Given the description of an element on the screen output the (x, y) to click on. 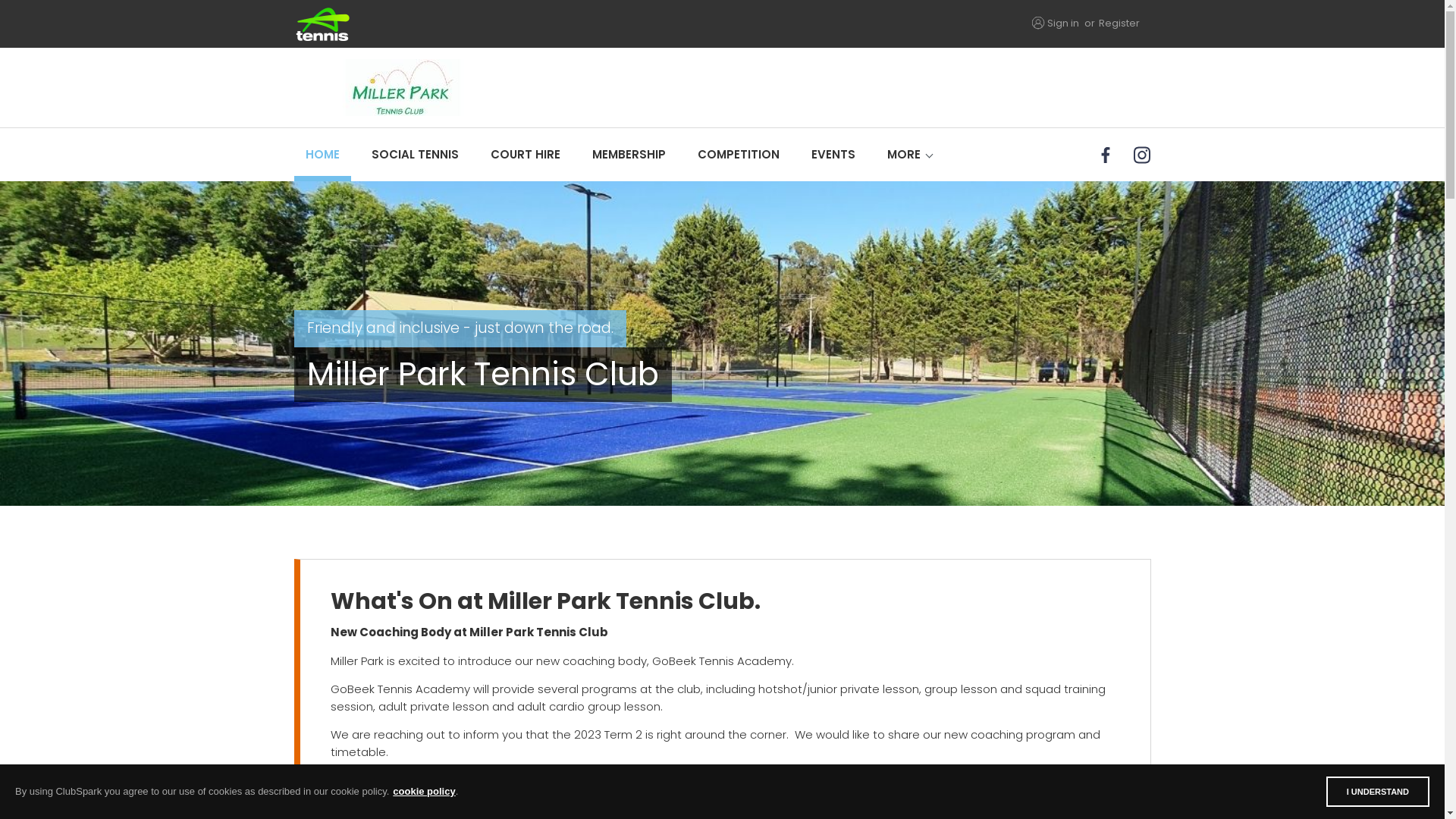
MORE Element type: text (903, 154)
cookie policy Element type: text (423, 791)
MEMBERSHIP Element type: text (628, 154)
HOME Element type: text (322, 154)
COURT HIRE Element type: text (525, 154)
Facebook Element type: text (1106, 154)
Register Element type: text (1118, 22)
EVENTS Element type: text (832, 154)
COMPETITION Element type: text (737, 154)
I UNDERSTAND Element type: text (1377, 791)
ClubSpark Element type: text (508, 23)
Instagram Element type: text (1143, 154)
Sign in Element type: text (1062, 22)
SOCIAL TENNIS Element type: text (414, 154)
